Given the description of an element on the screen output the (x, y) to click on. 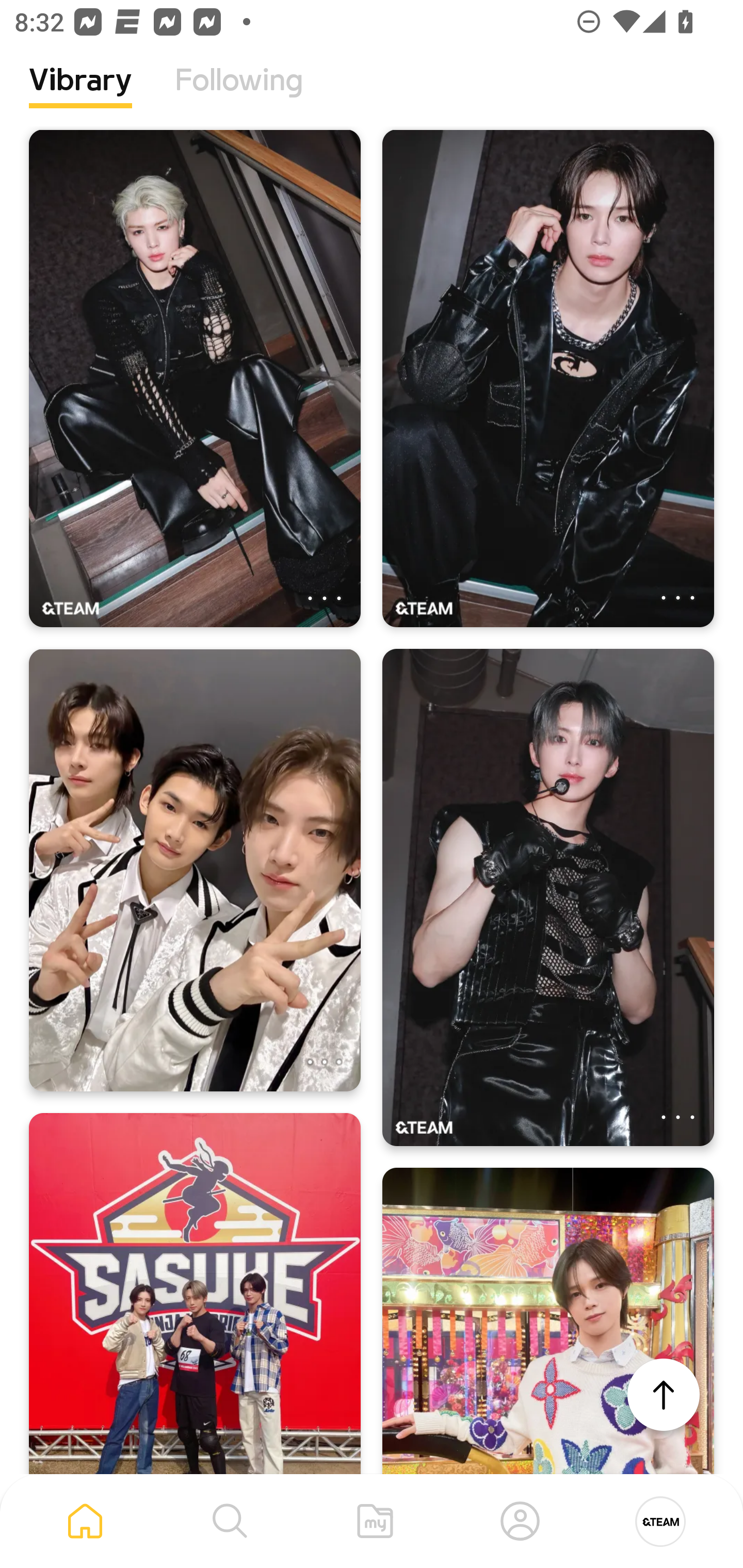
Vibrary (80, 95)
Following (239, 95)
